Given the description of an element on the screen output the (x, y) to click on. 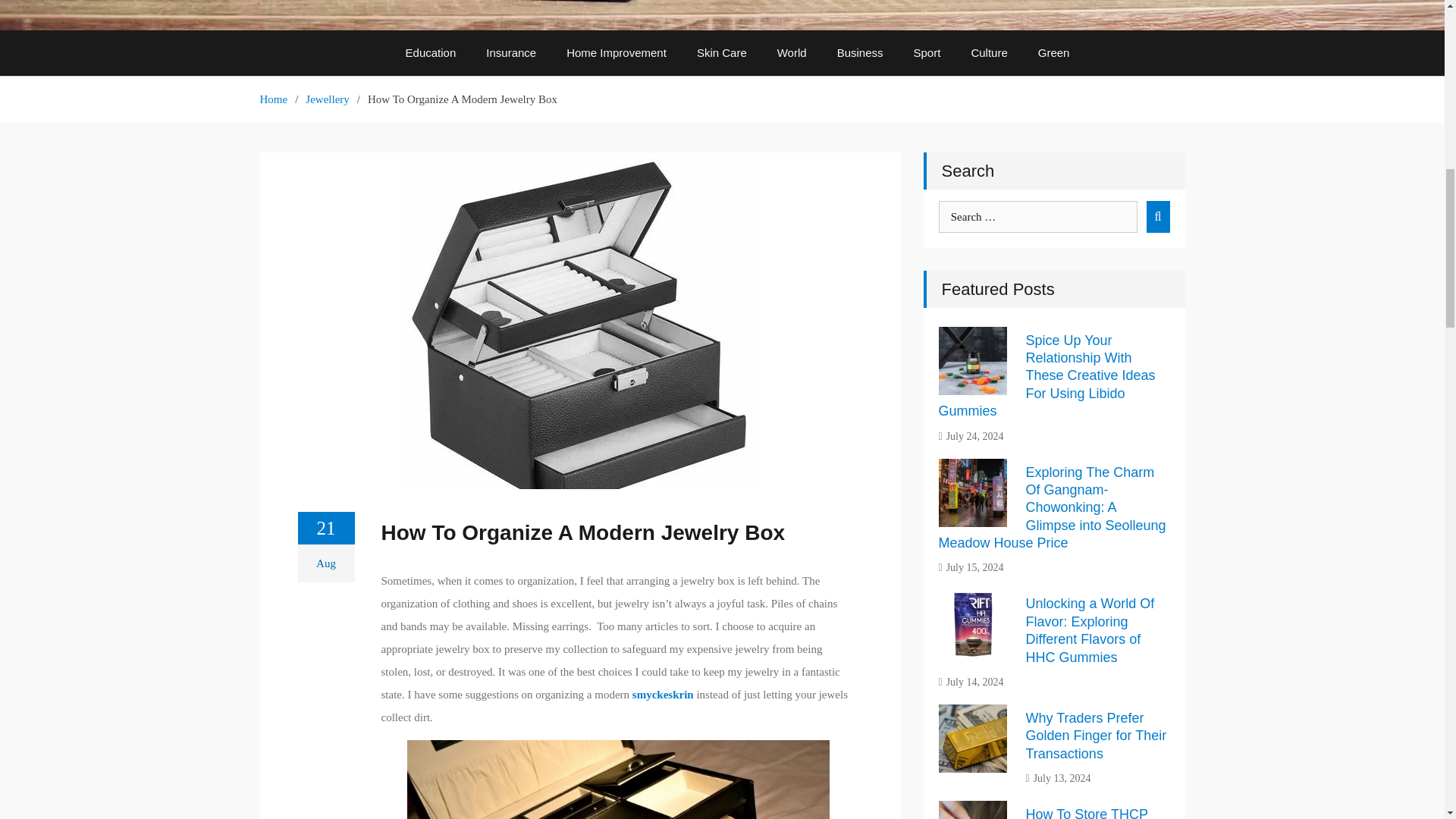
World (791, 53)
Jewellery (327, 99)
Skin Care (721, 53)
Business (860, 53)
Why Traders Prefer Golden Finger for Their Transactions (1095, 735)
How To Store THCP Gummies For Maximum Freshness And Potency (1088, 812)
Culture (988, 53)
Education (430, 53)
Home (272, 99)
Sport (927, 53)
smyckeskrin (662, 694)
Insurance (510, 53)
